Given the description of an element on the screen output the (x, y) to click on. 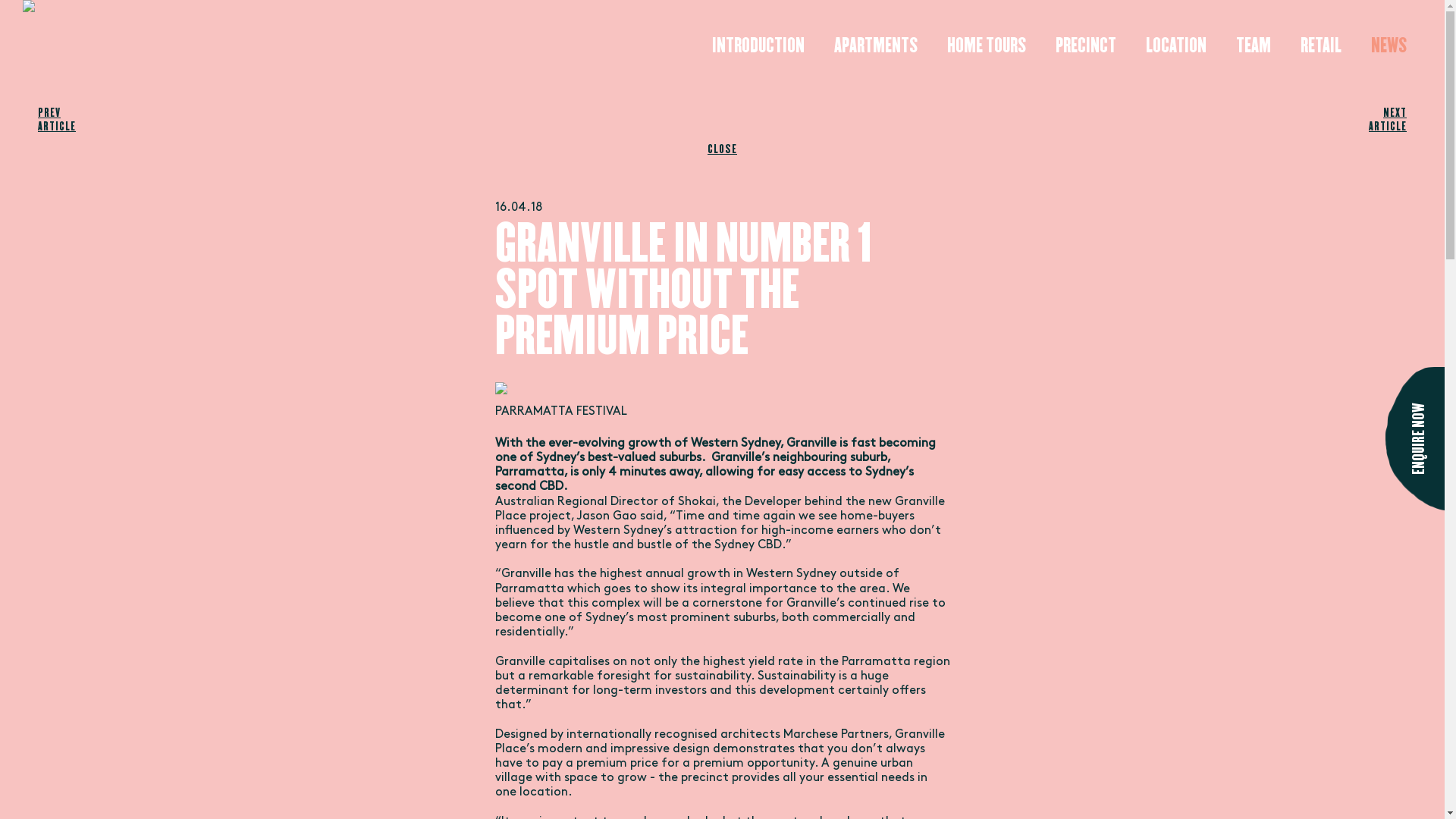
PREV
ARTICLE Element type: text (75, 119)
INTRODUCTION Element type: text (758, 45)
TEAM Element type: text (1253, 45)
PRECINCT Element type: text (1085, 45)
RETAIL Element type: text (1320, 45)
APARTMENTS Element type: text (875, 45)
NEWS Element type: text (1388, 45)
LOCATION Element type: text (1175, 45)
HOME TOURS Element type: text (986, 45)
NEXT
ARTICLE Element type: text (1368, 119)
